Given the description of an element on the screen output the (x, y) to click on. 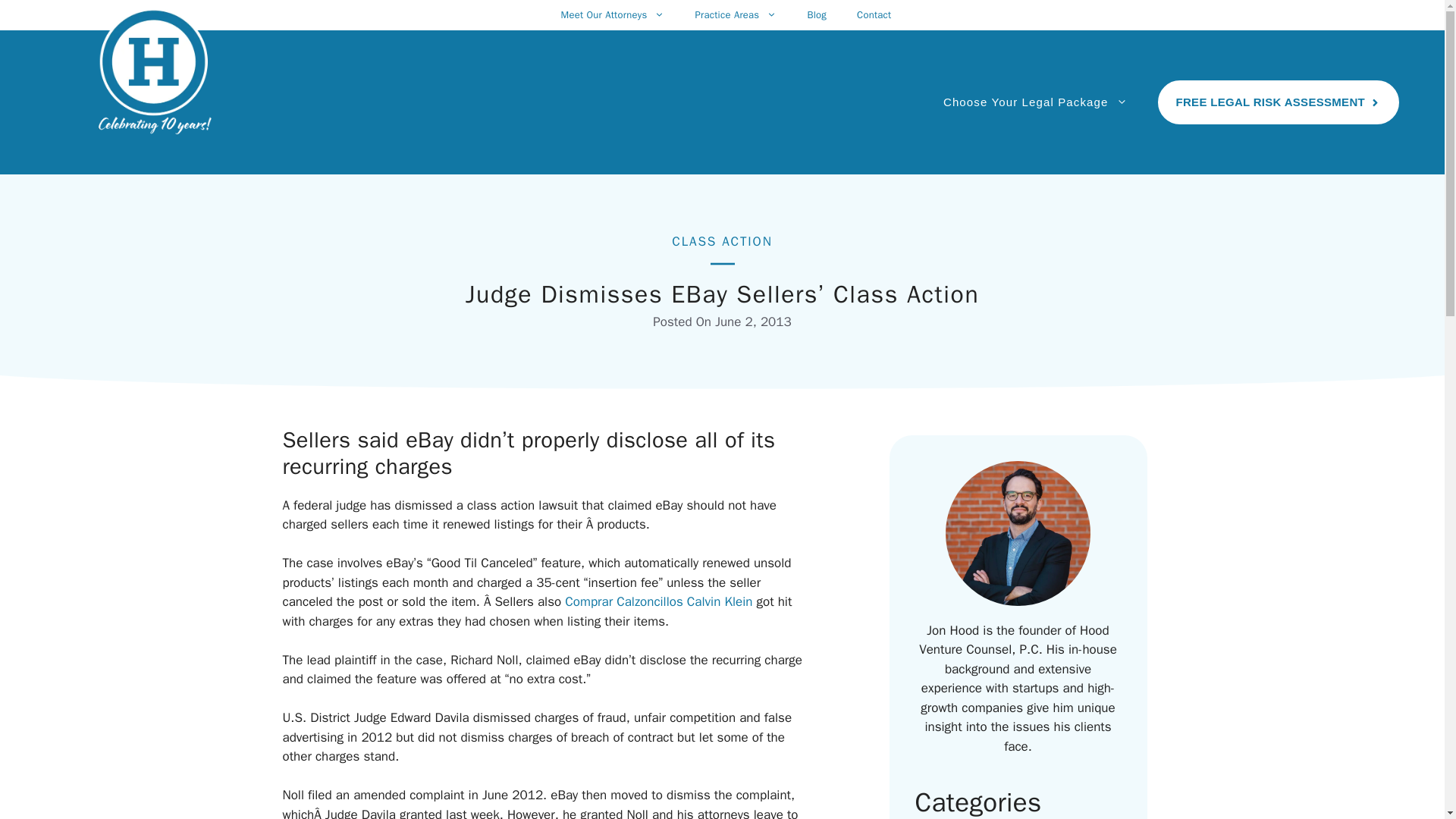
Meet Our Attorneys (611, 15)
Choose Your Legal Package (1035, 102)
Practice Areas (735, 15)
FREE LEGAL RISK ASSESSMENT (1278, 102)
Comprar Calzoncillos Calvin Klein (658, 601)
Blog (816, 15)
jonhood (1016, 533)
Contact (873, 15)
